Given the description of an element on the screen output the (x, y) to click on. 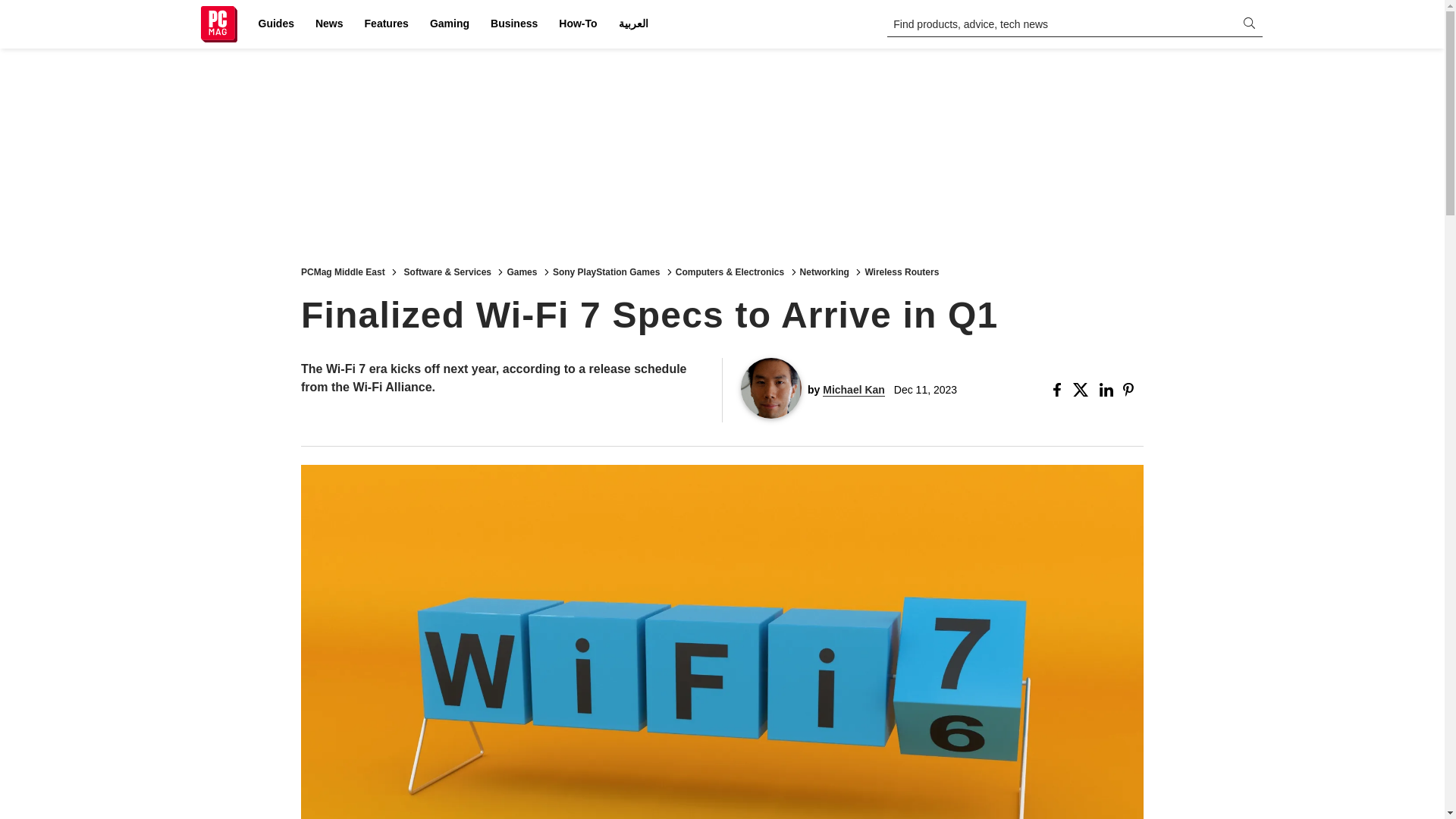
Networking (823, 270)
Guides (275, 24)
How-To (577, 24)
Wireless Routers (901, 270)
Share this Story on Facebook (1059, 389)
Search (21, 7)
Games (521, 270)
PCMag Middle East (343, 270)
Share this Story on Pinterest (1132, 389)
Michael Kan (853, 390)
Share this Story on X (1083, 389)
Business (513, 24)
Sony PlayStation Games (606, 270)
Gaming (449, 24)
Share this Story on Linkedin (1107, 389)
